Given the description of an element on the screen output the (x, y) to click on. 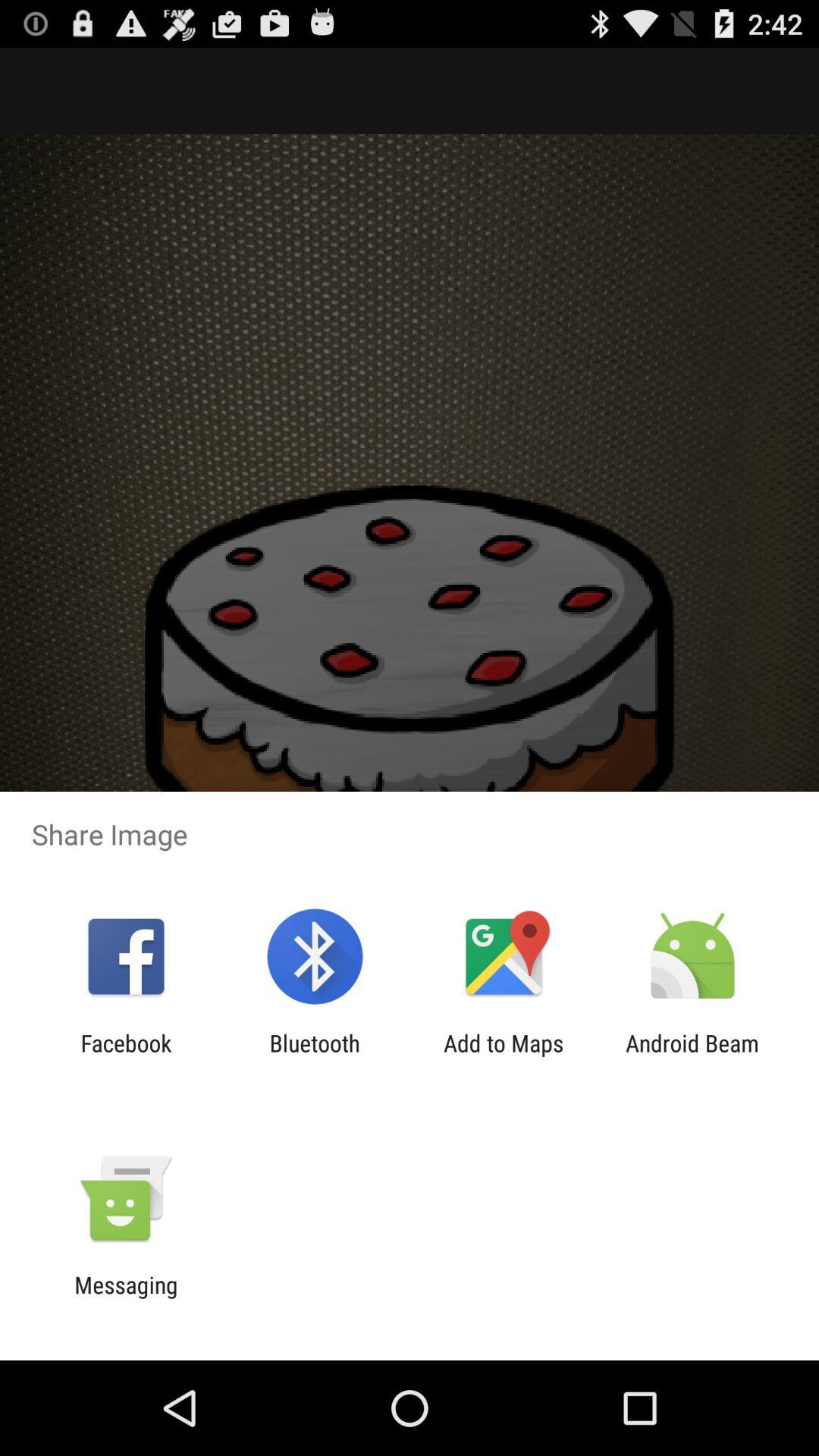
swipe until the messaging icon (126, 1298)
